Given the description of an element on the screen output the (x, y) to click on. 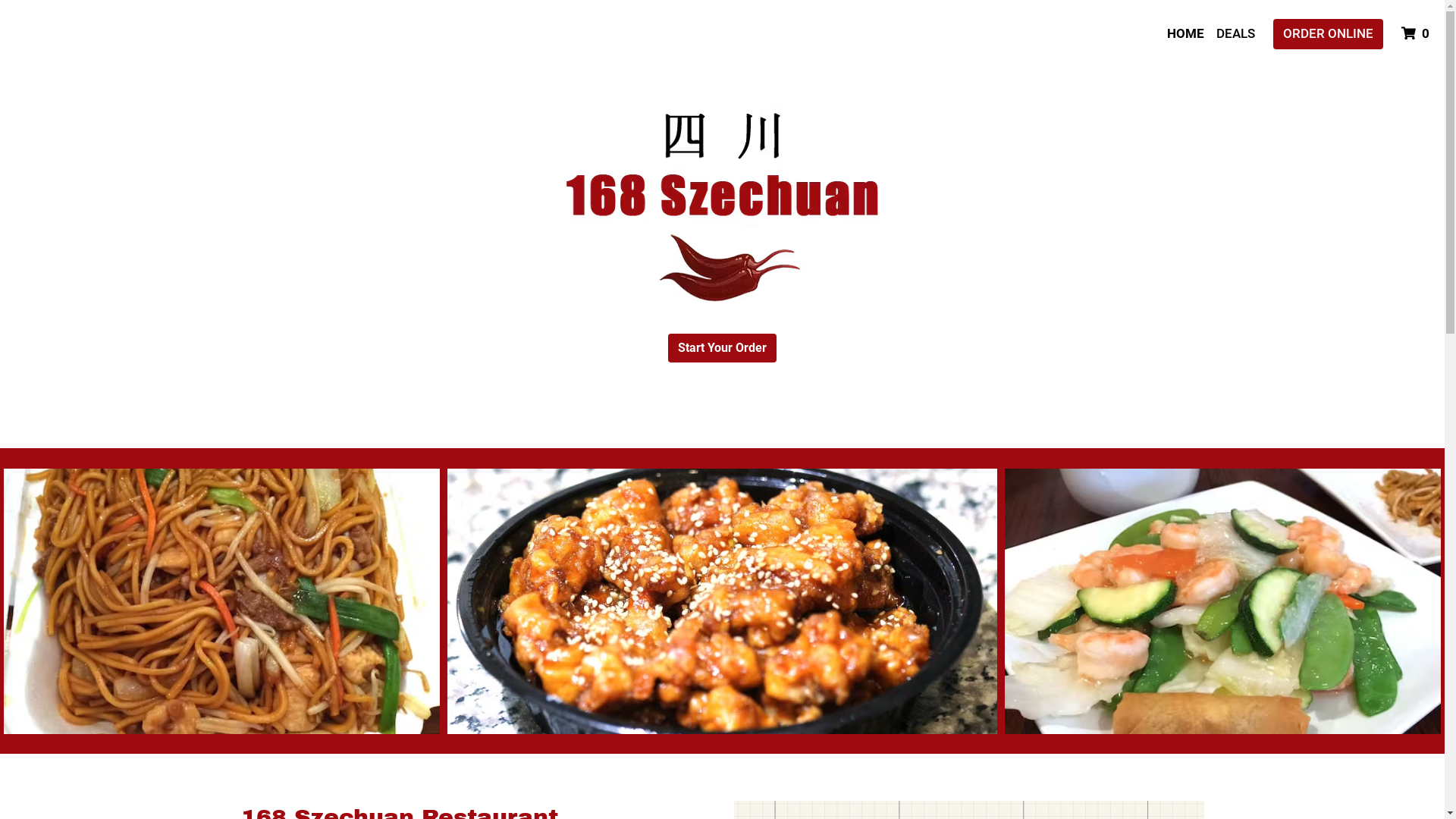
0
 ITEMS IN CART Element type: text (1416, 34)
ORDER ONLINE Element type: text (1328, 33)
HOME Element type: text (1185, 34)
Start Your Order Element type: text (722, 347)
DEALS Element type: text (1235, 34)
